Given the description of an element on the screen output the (x, y) to click on. 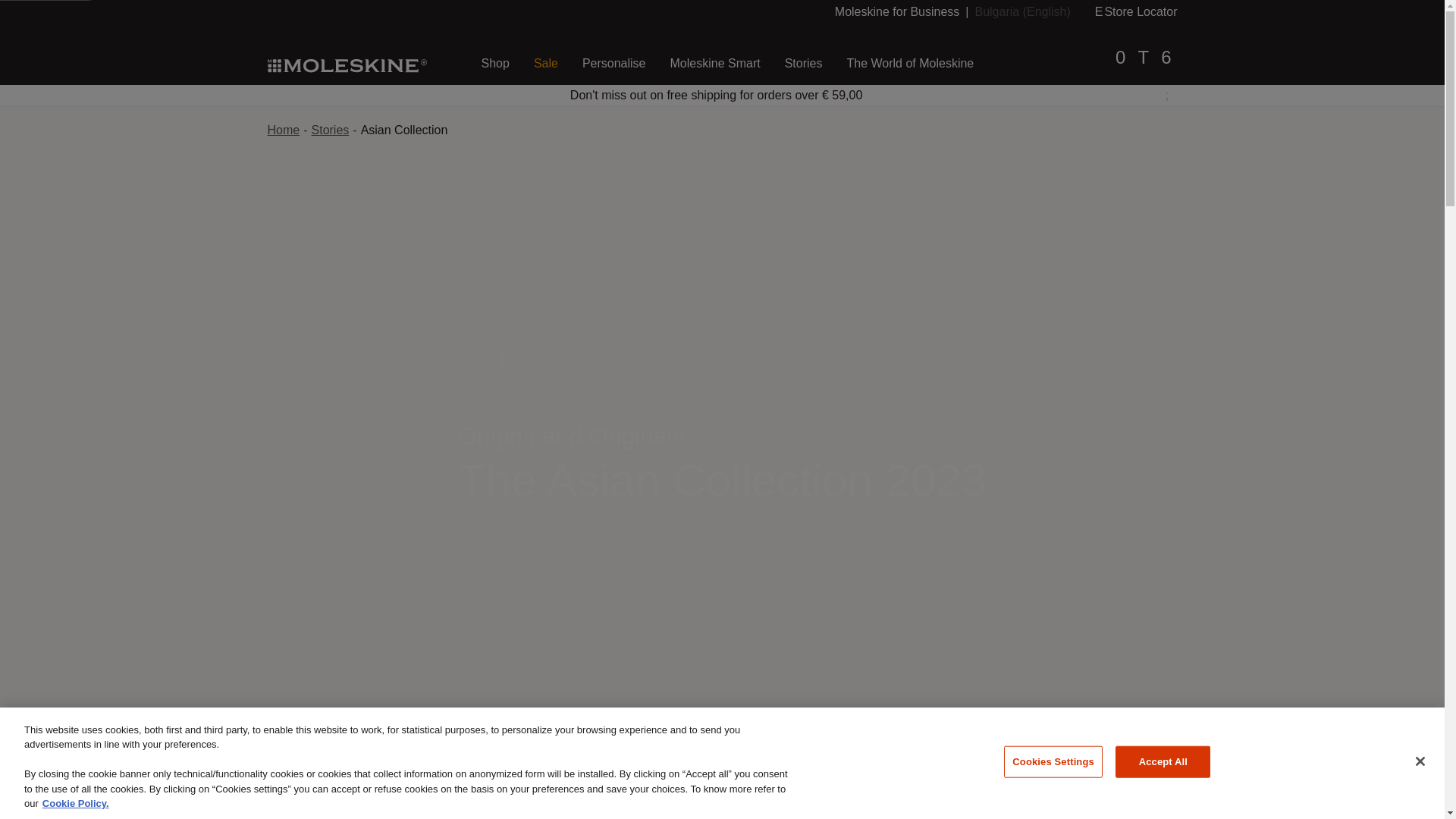
Moleskine for Business (896, 11)
Home (282, 130)
Moleskine Home (494, 63)
Store Locator (346, 64)
Choose your country (1135, 11)
Asian Collection (1022, 11)
Stories (404, 130)
